Given the description of an element on the screen output the (x, y) to click on. 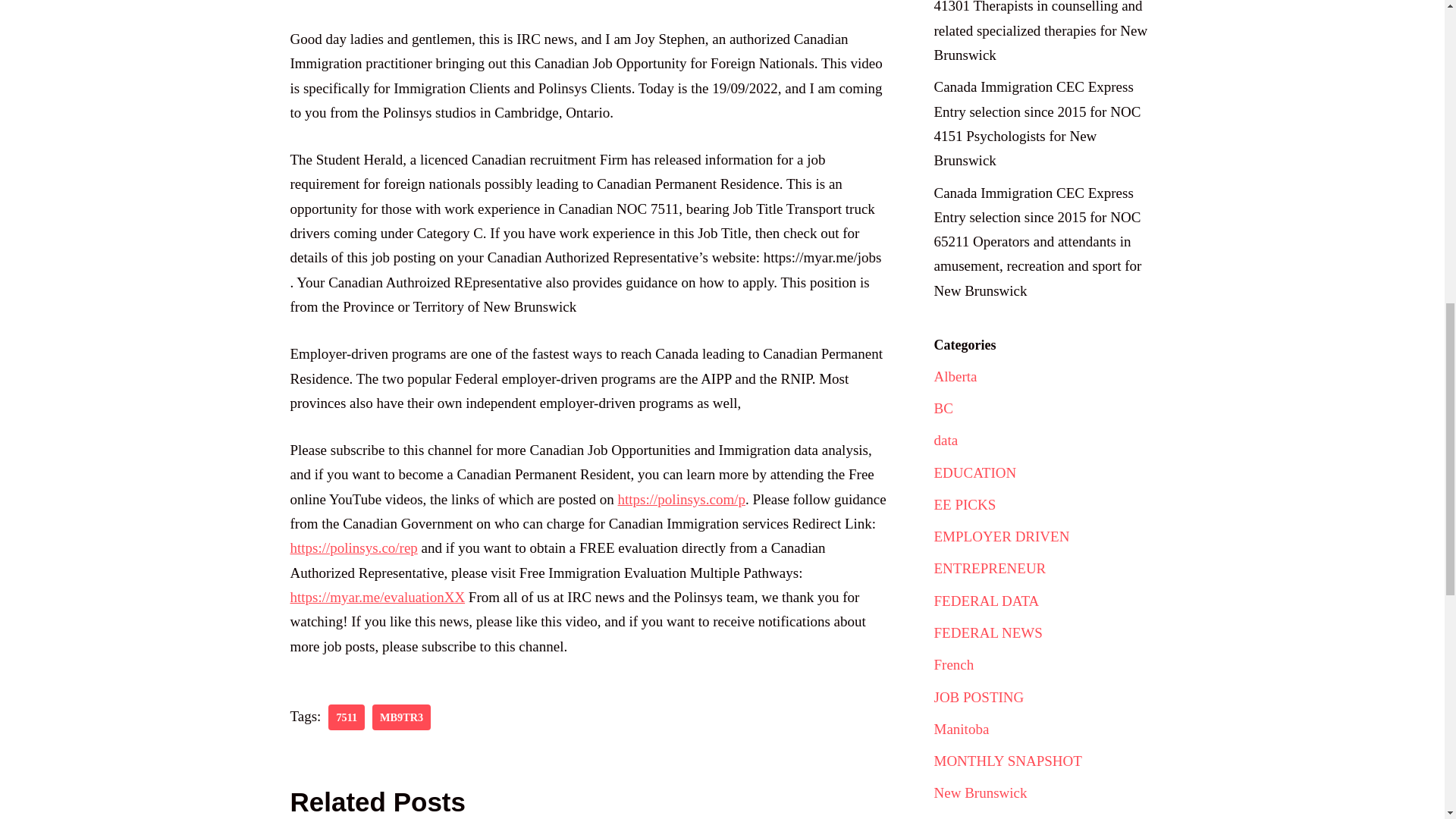
7511 (347, 717)
MB9Tr3 (401, 717)
